Given the description of an element on the screen output the (x, y) to click on. 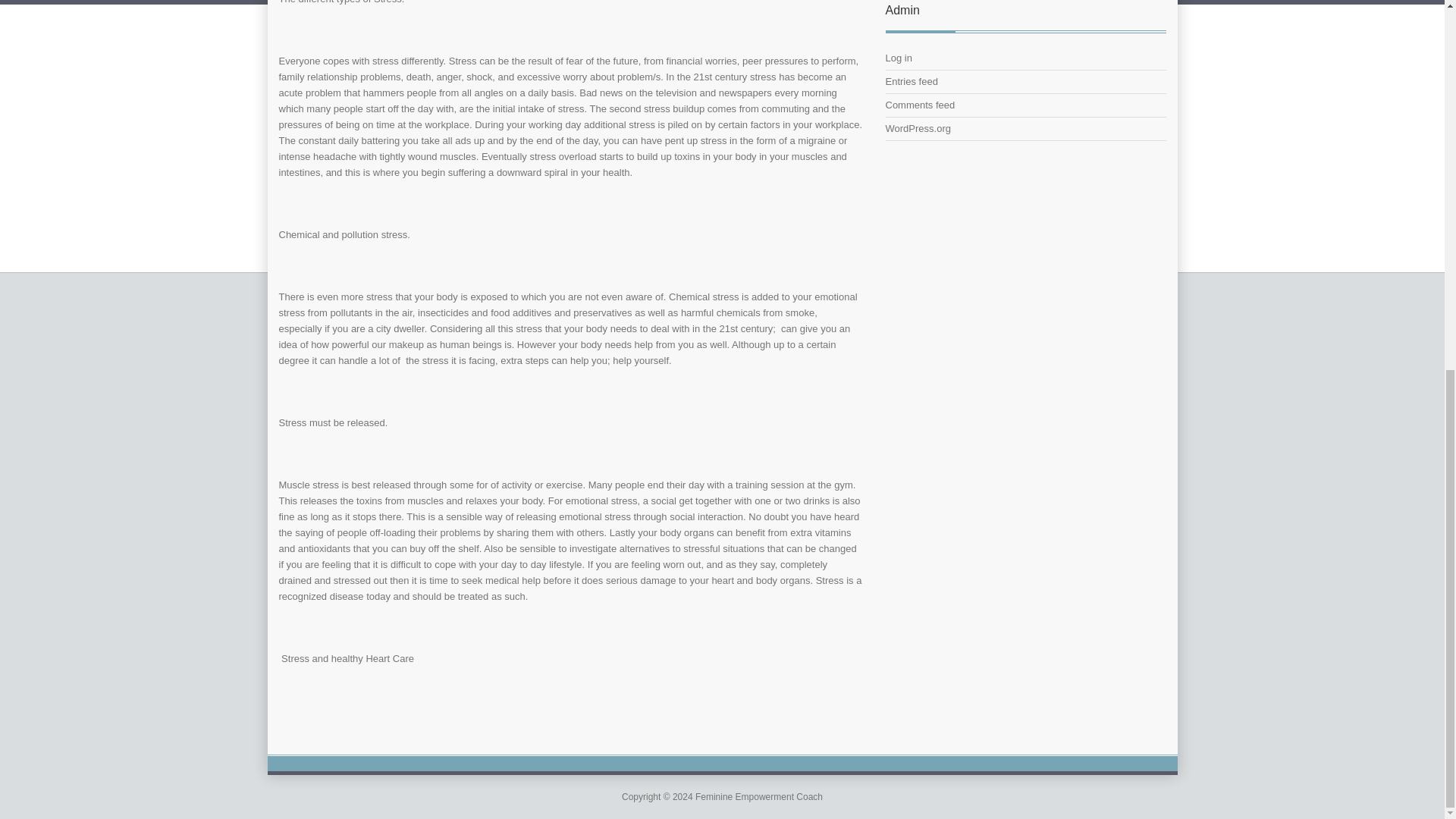
Comments feed (920, 104)
Log in (898, 57)
WordPress.org (917, 128)
Entries feed (911, 81)
